Given the description of an element on the screen output the (x, y) to click on. 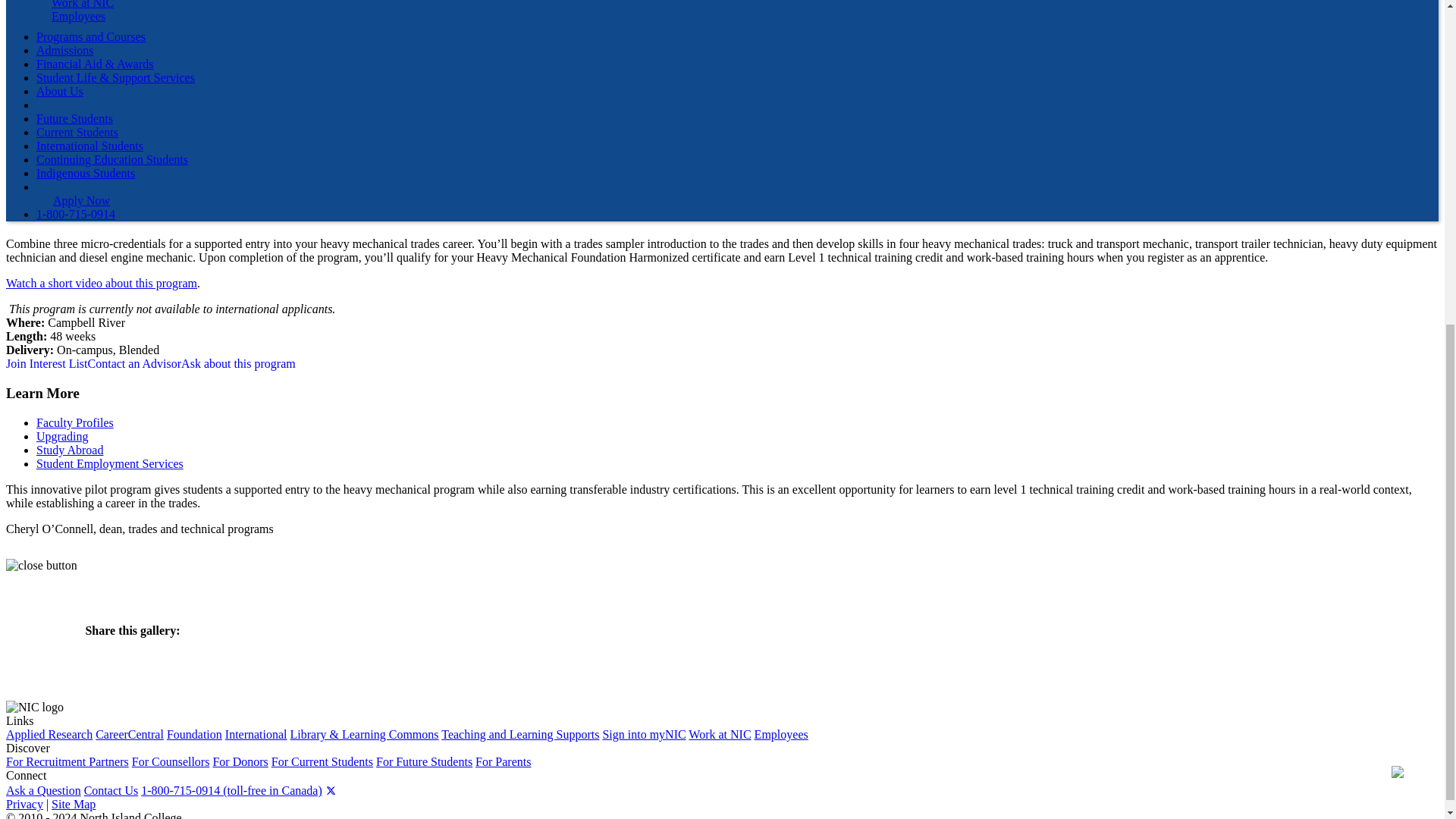
Programs and Courses (90, 36)
Work at NIC (81, 4)
Admissions (65, 50)
Employees (77, 15)
